Given the description of an element on the screen output the (x, y) to click on. 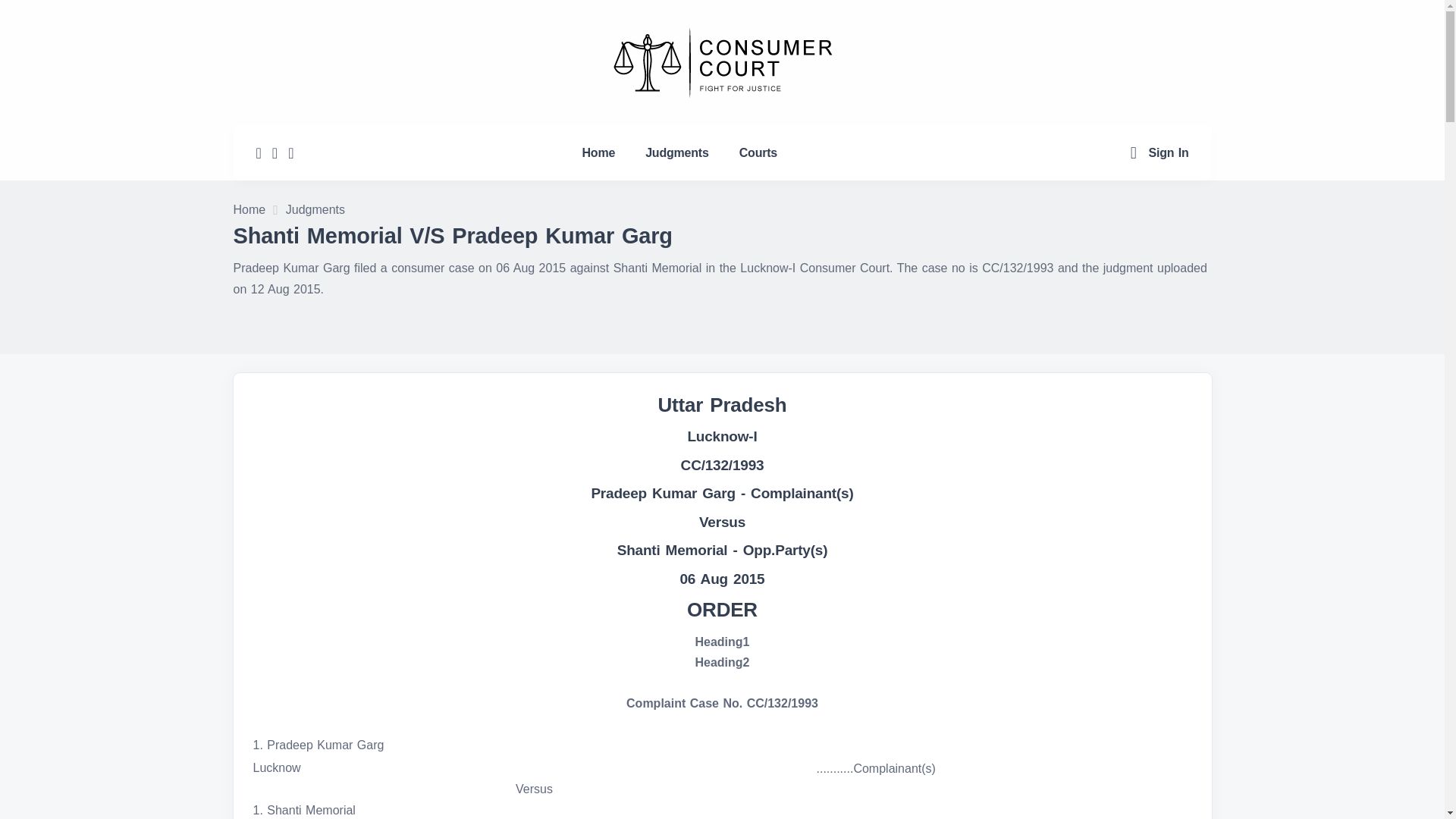
Home (249, 210)
Sign In (1168, 152)
Home (598, 152)
Courts (757, 152)
Judgments (676, 152)
Judgments (315, 210)
